Given the description of an element on the screen output the (x, y) to click on. 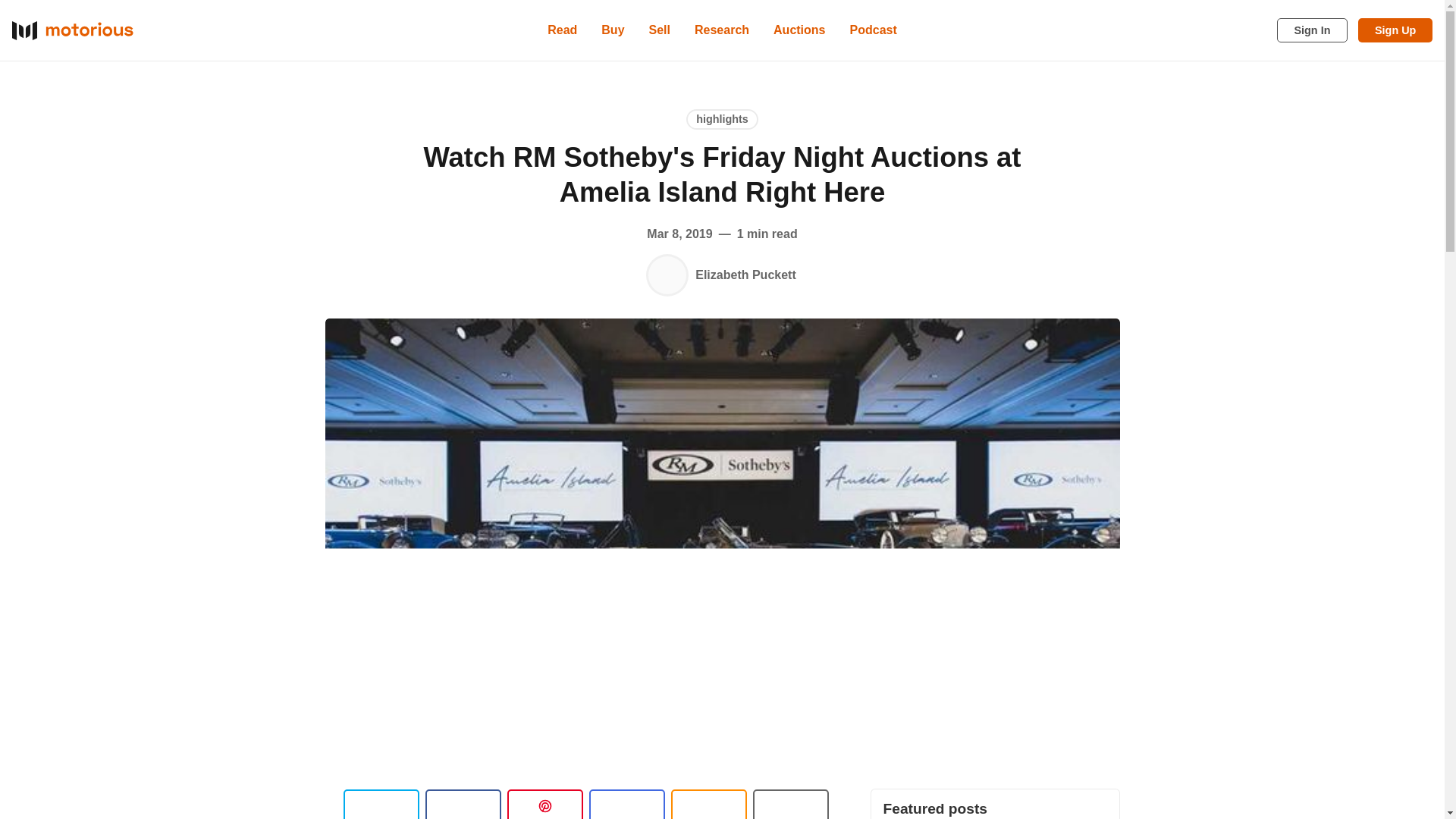
Auctions (799, 29)
Sign Up (1395, 30)
Buy (612, 29)
Sign In (1312, 30)
Share on Facebook (462, 804)
Share on Linkedin (544, 804)
highlights (721, 118)
Elizabeth Puckett (744, 274)
Elizabeth Puckett (666, 275)
Podcast (873, 29)
